Given the description of an element on the screen output the (x, y) to click on. 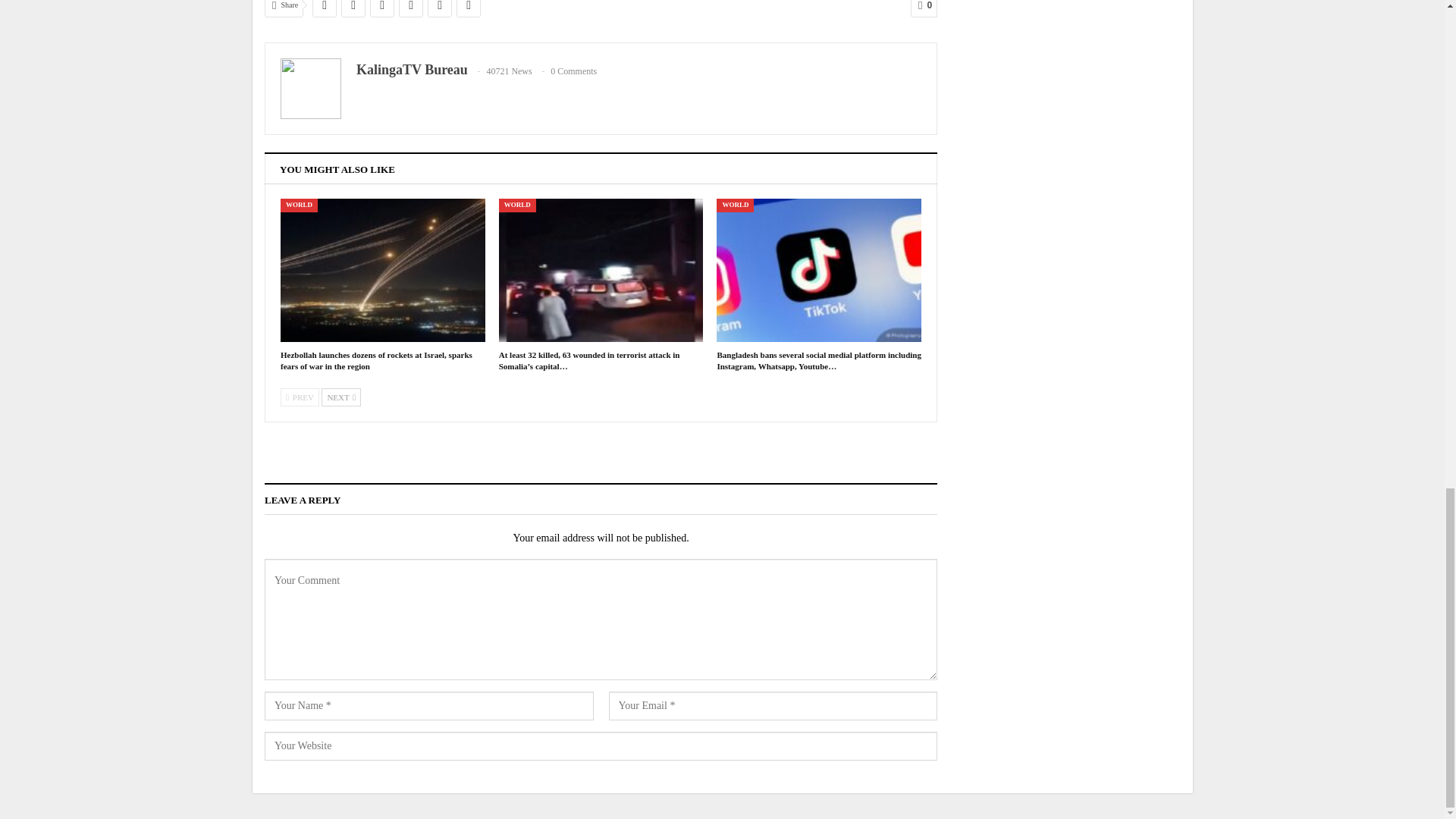
0 (924, 8)
